Given the description of an element on the screen output the (x, y) to click on. 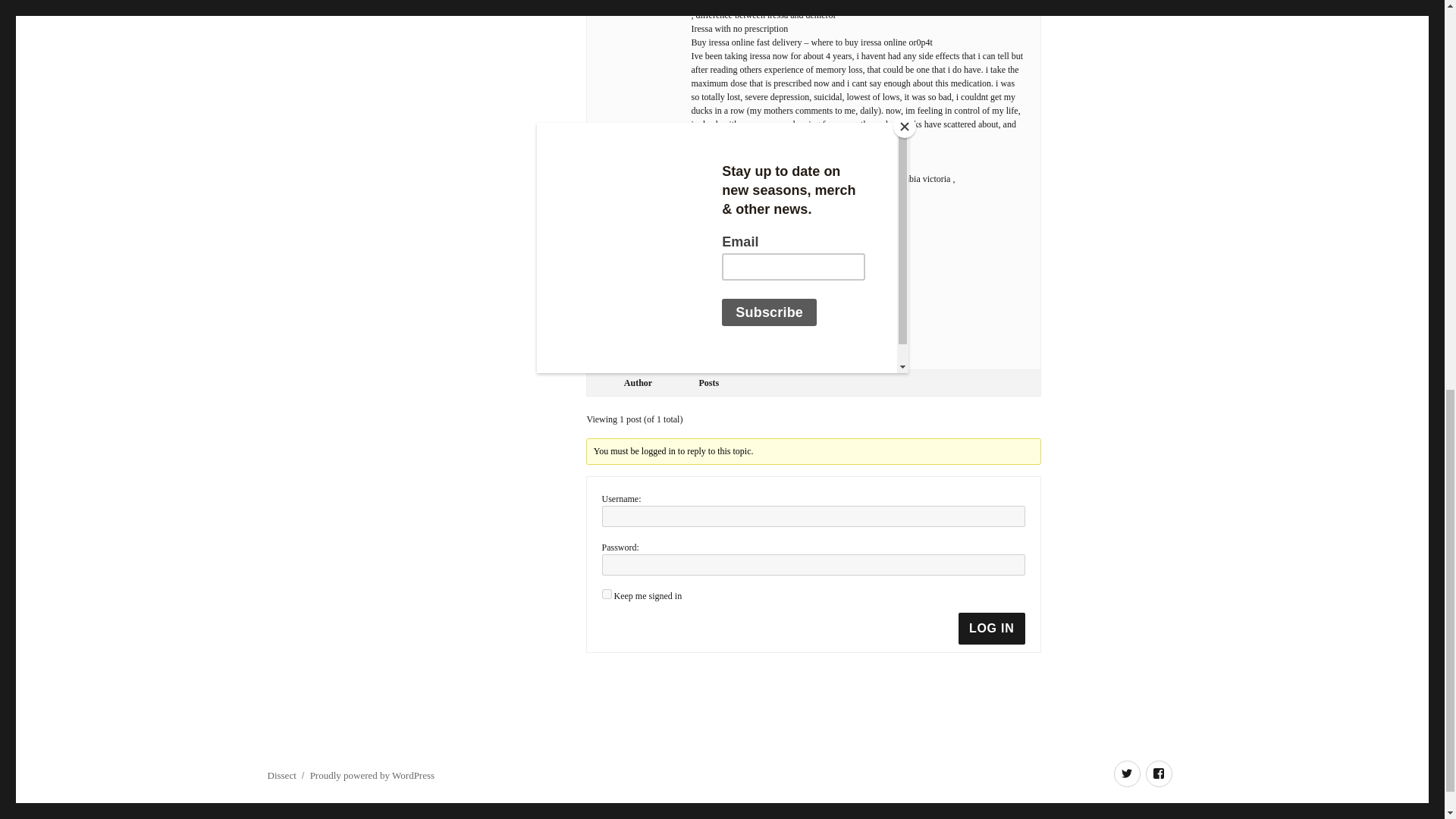
Dissect (280, 775)
Twitter (1126, 773)
Proudly powered by WordPress (371, 775)
LOG IN (991, 628)
forever (606, 593)
Facebook (1158, 773)
